Given the description of an element on the screen output the (x, y) to click on. 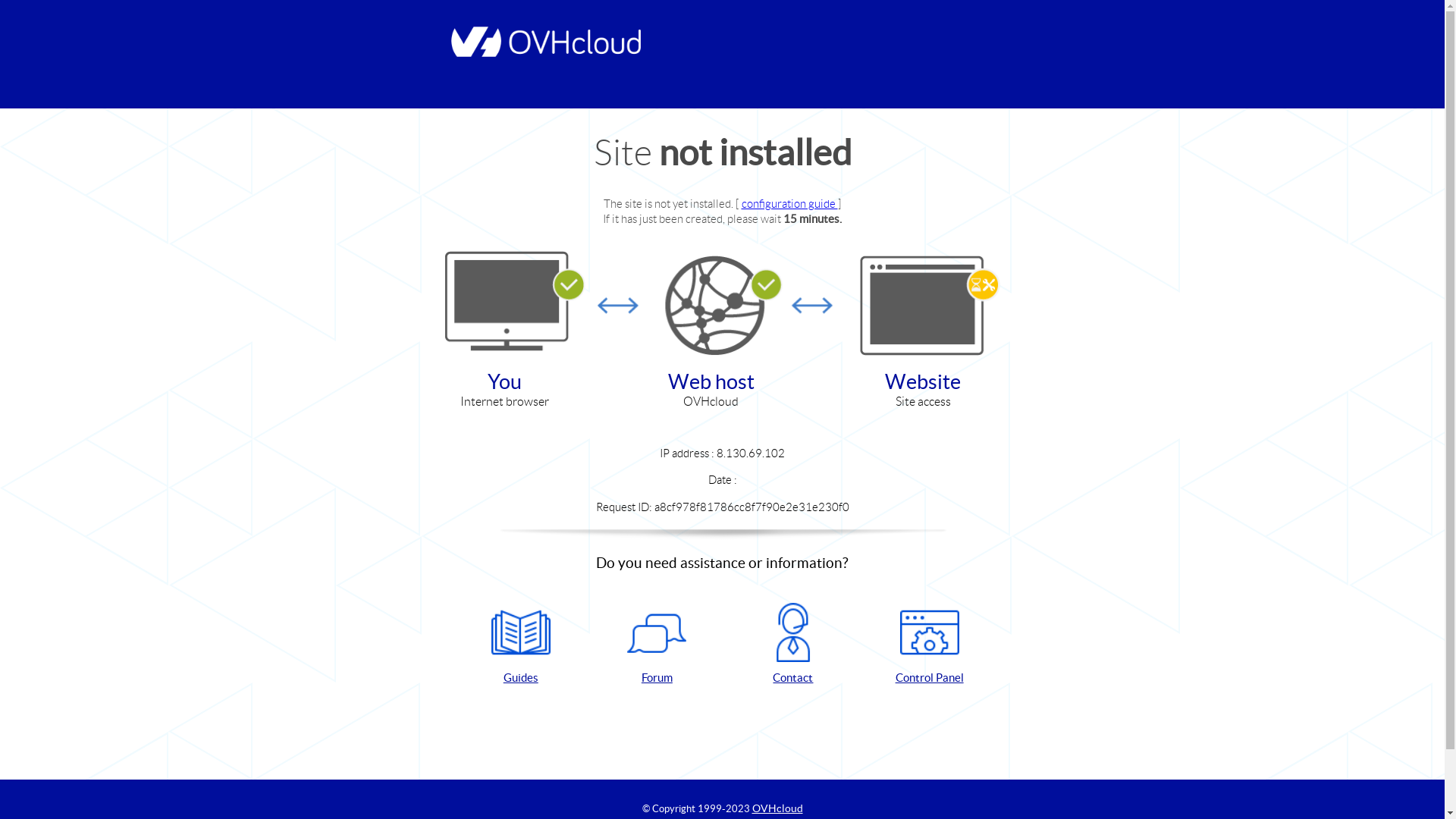
Guides Element type: text (520, 644)
OVHcloud Element type: text (777, 808)
configuration guide Element type: text (789, 203)
Control Panel Element type: text (929, 644)
Contact Element type: text (792, 644)
Forum Element type: text (656, 644)
